Given the description of an element on the screen output the (x, y) to click on. 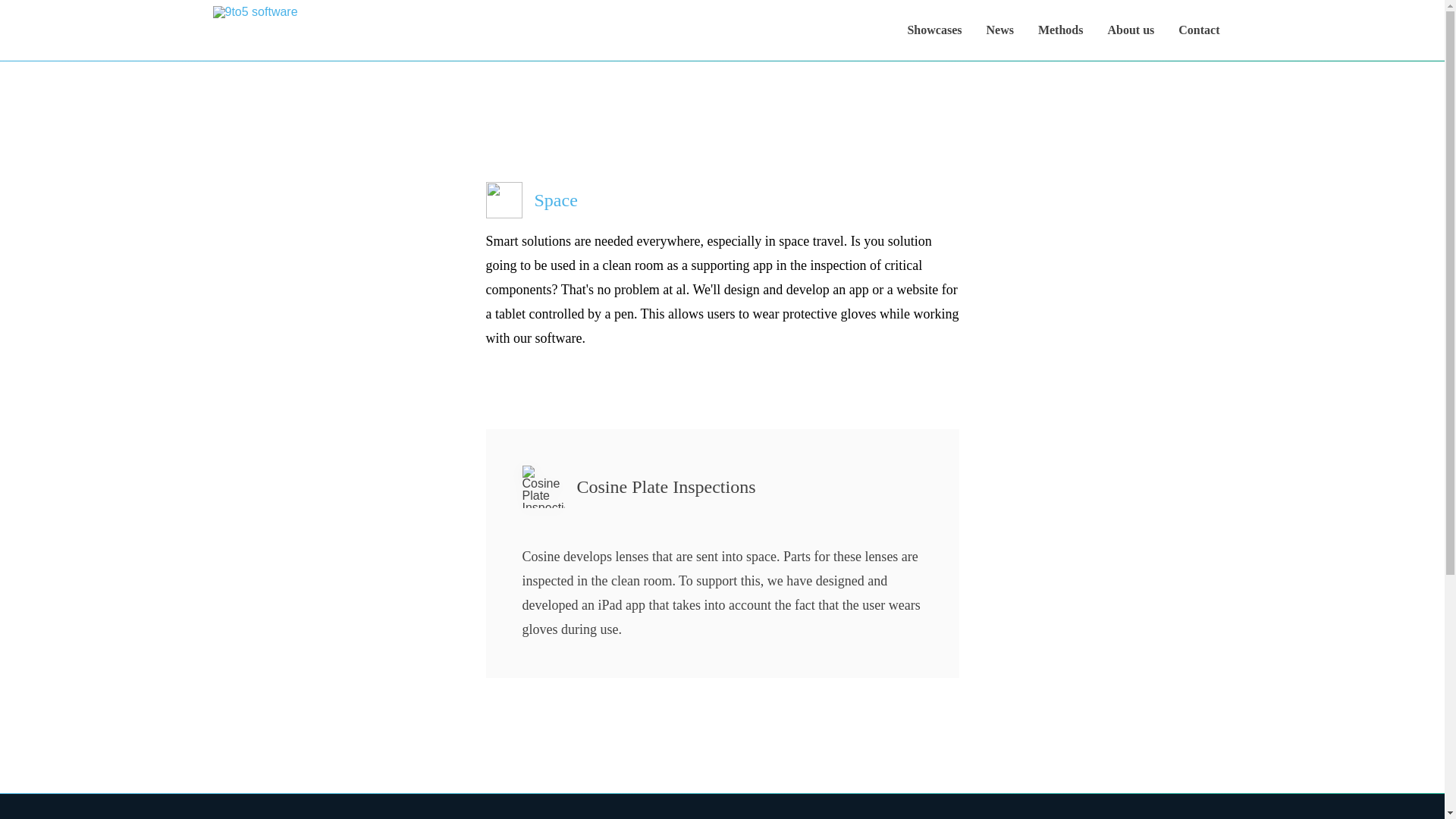
Contact (596, 643)
Websites and web apps (846, 602)
Twitter (1098, 582)
About us (1130, 29)
Job openings (596, 623)
ShowcasesNewsMethodsAbout usContact (1063, 30)
Backend (846, 623)
News (999, 29)
Facebook (1098, 541)
iOS apps (846, 562)
Instagram (1098, 562)
Team (596, 602)
Showcases (934, 29)
Methods (596, 582)
Contact (1198, 29)
